Given the description of an element on the screen output the (x, y) to click on. 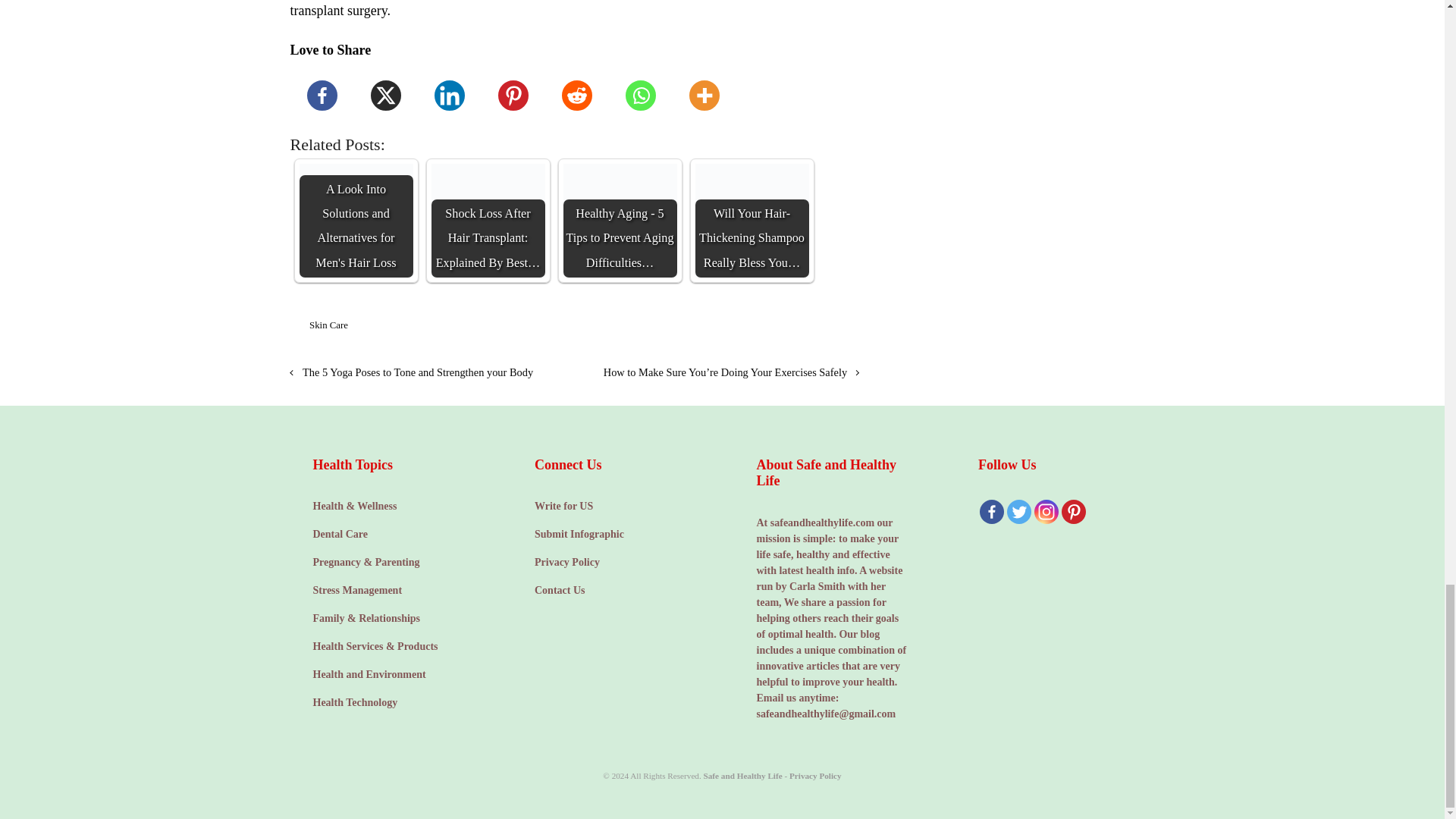
A Look Into Solutions and Alternatives for Men's Hair Loss (355, 220)
Linkedin (449, 95)
A Look Into Solutions and Alternatives for Men's Hair Loss (355, 220)
Whatsapp (639, 95)
Pinterest (512, 95)
X (384, 95)
Skin Care (327, 325)
Reddit (576, 95)
More (702, 95)
Facebook (321, 95)
The 5 Yoga Poses to Tone and Strengthen your Body (410, 372)
